Given the description of an element on the screen output the (x, y) to click on. 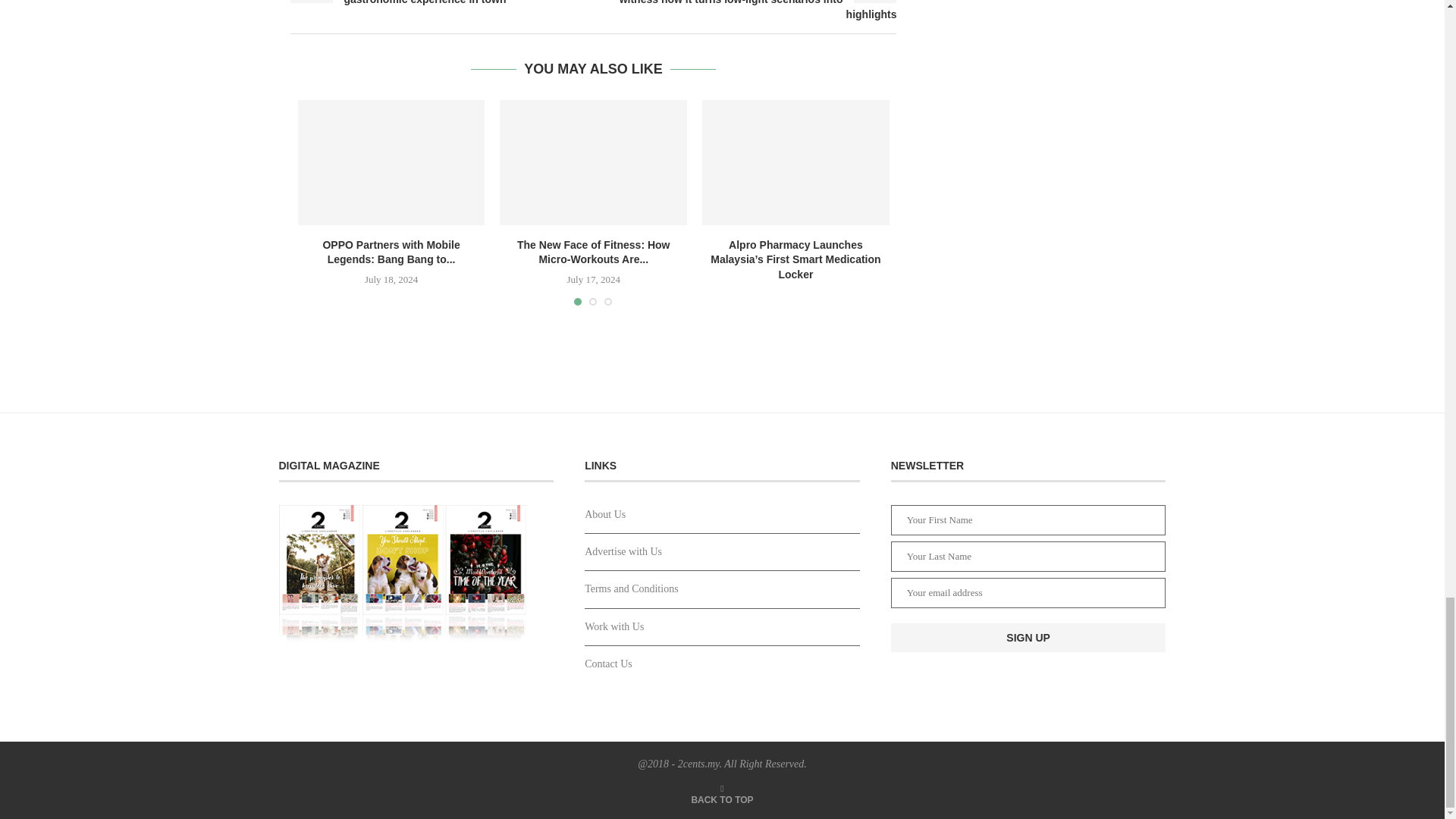
Sign up (1028, 637)
